Given the description of an element on the screen output the (x, y) to click on. 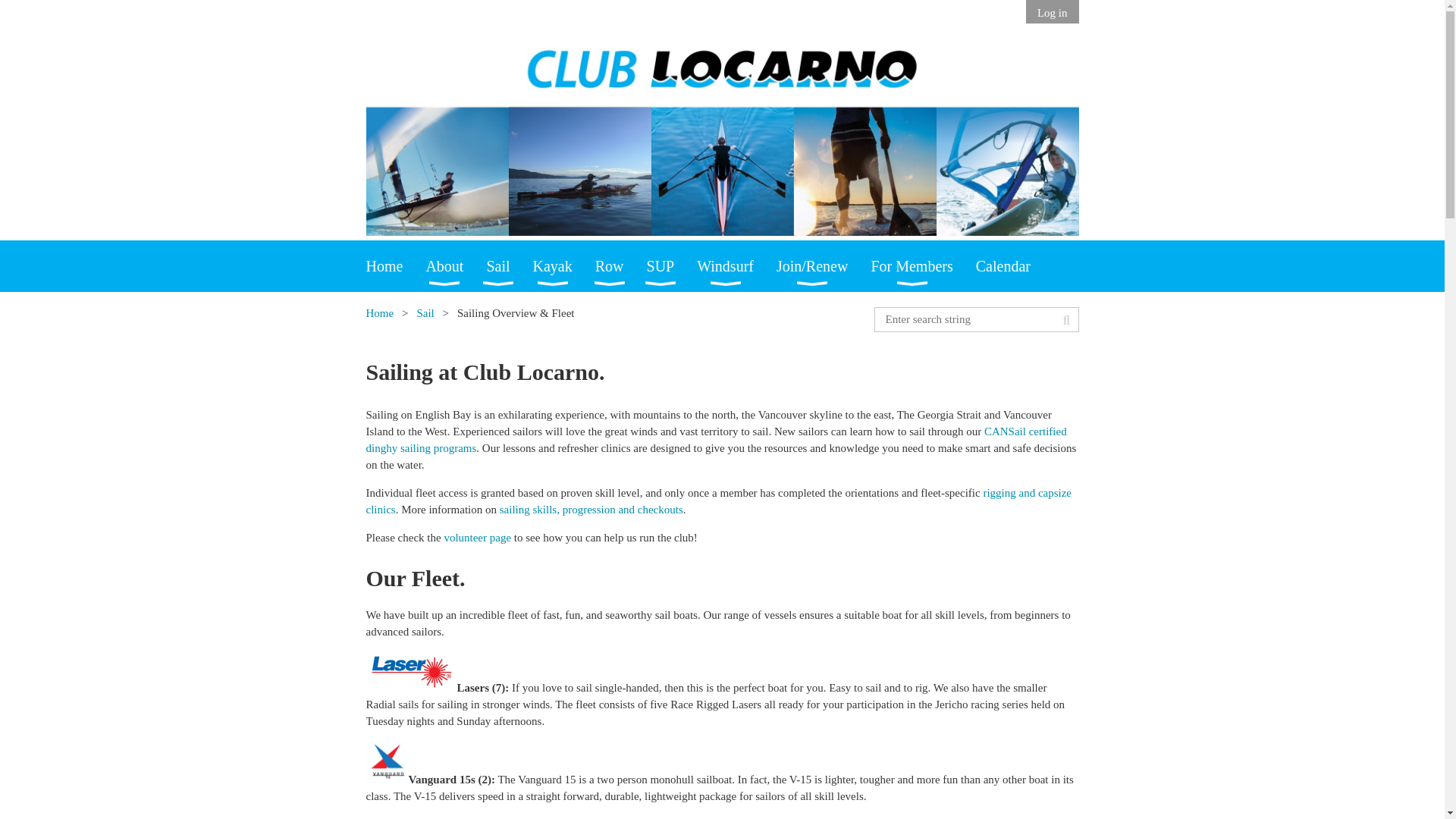
About (455, 265)
Sail (509, 265)
About (455, 265)
Home (395, 265)
Row (620, 265)
Sail (509, 265)
Kayak (563, 265)
Log in (1052, 13)
Home (395, 265)
